Given the description of an element on the screen output the (x, y) to click on. 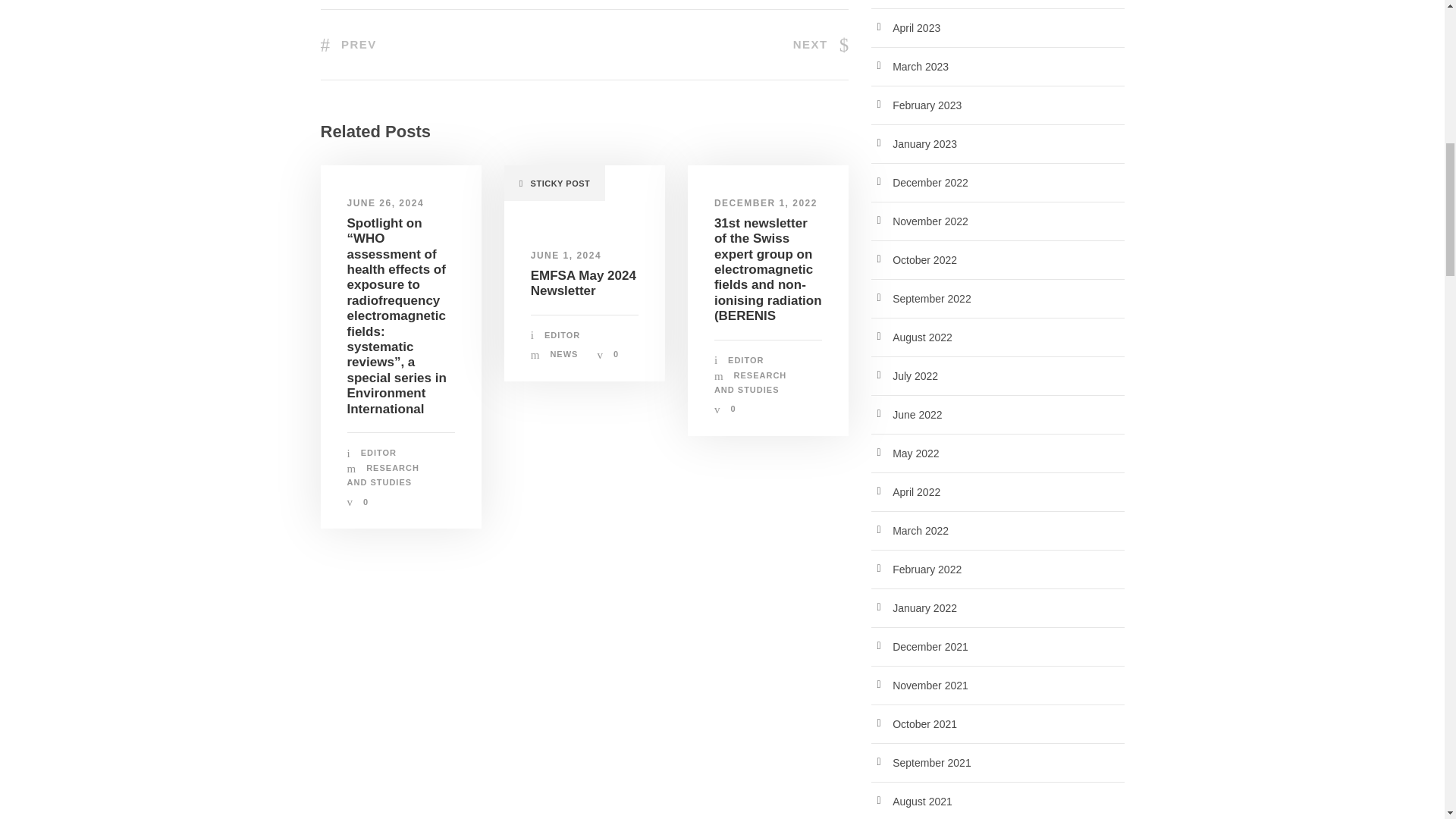
Posts by Editor (745, 359)
Posts by Editor (561, 334)
Posts by Editor (378, 452)
